Given the description of an element on the screen output the (x, y) to click on. 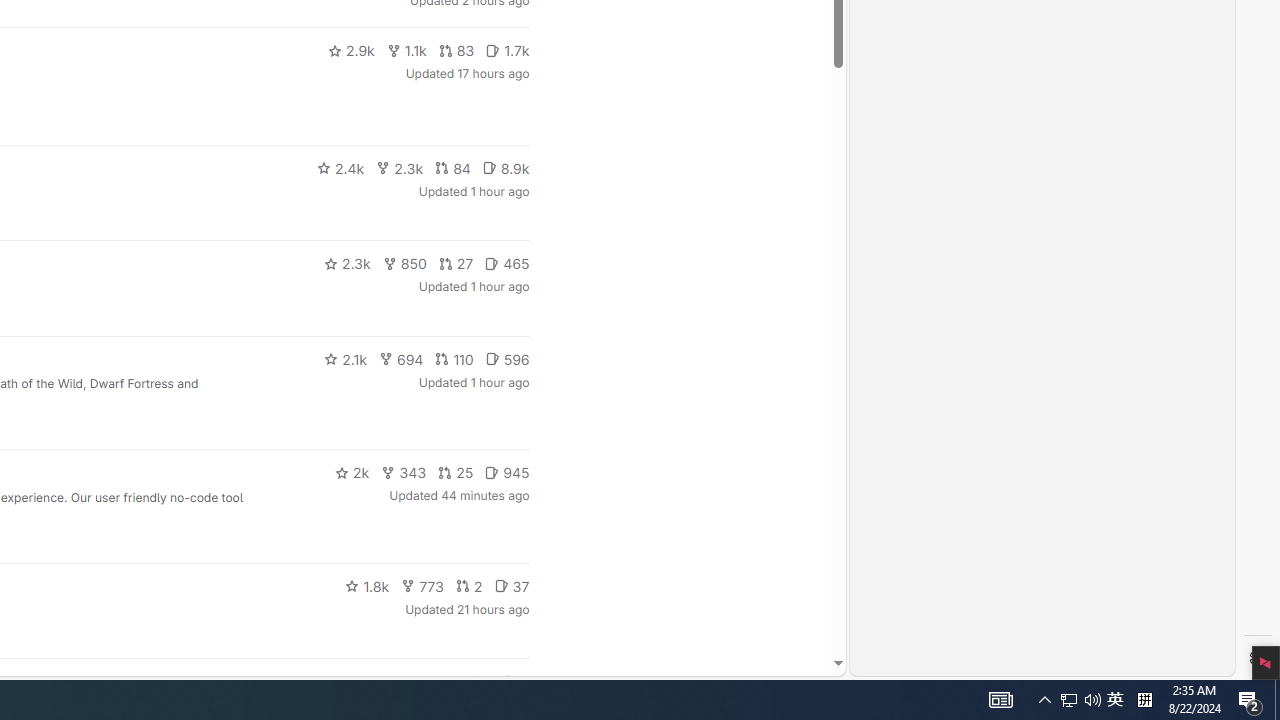
2.1k (345, 358)
2k (351, 472)
25 (455, 472)
37 (511, 585)
694 (400, 358)
1.8k (367, 585)
465 (507, 263)
83 (455, 50)
84 (453, 167)
2.3k (346, 263)
Class: s14 gl-mr-2 (509, 681)
110 (454, 358)
2.4k (340, 167)
